Given the description of an element on the screen output the (x, y) to click on. 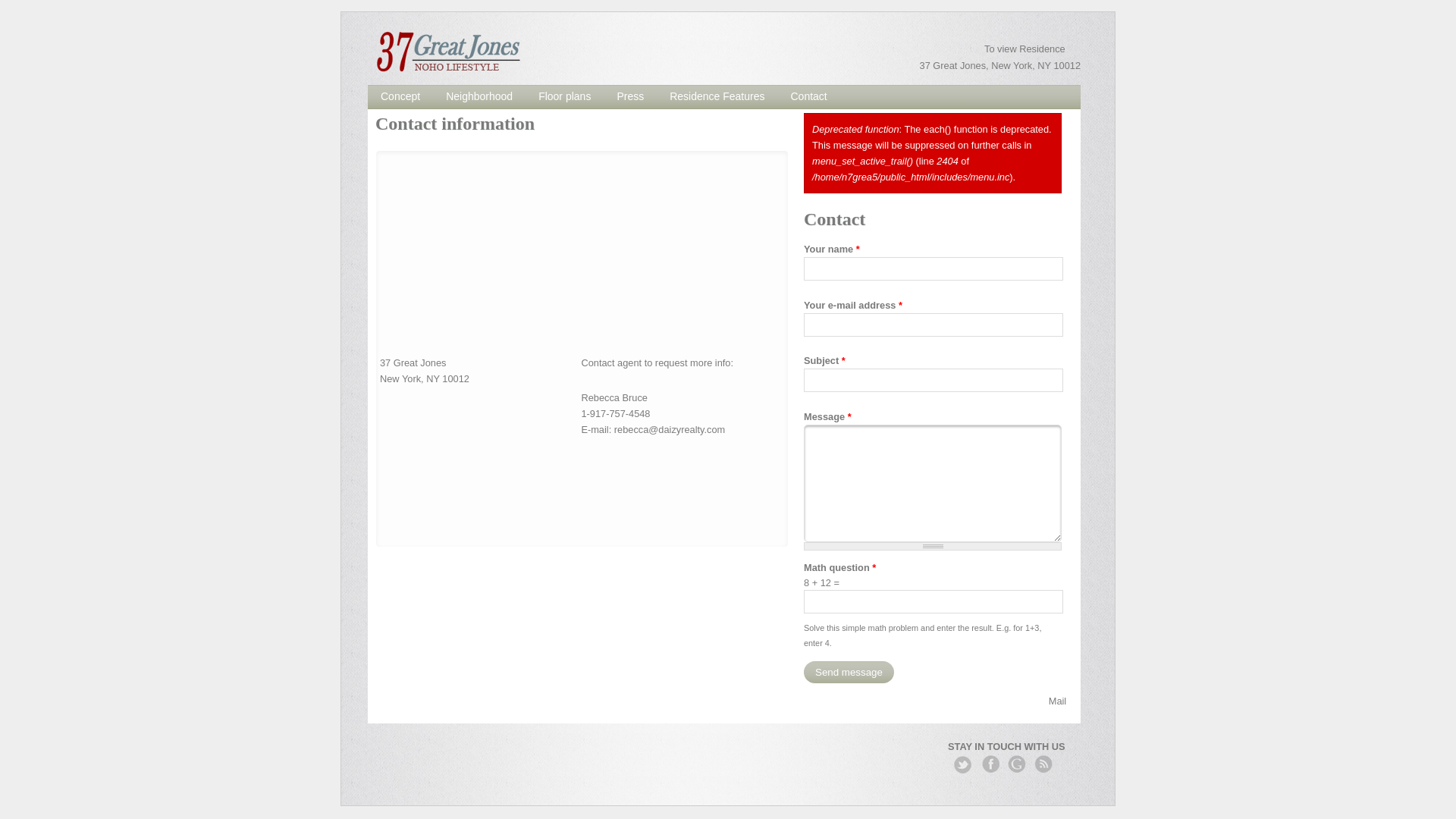
Skip to main content Element type: text (43, 11)
rebecca@daizyrealty.com Element type: text (669, 429)
Press Element type: text (629, 95)
Neighborhood Element type: text (479, 95)
Floor plans Element type: text (564, 95)
Residence Features Element type: text (716, 95)
Mail Element type: text (722, 704)
Concept Element type: text (399, 95)
Contact Element type: text (808, 95)
Send message Element type: text (848, 672)
To view Residence Element type: text (1024, 48)
Home Element type: hover (449, 52)
